Given the description of an element on the screen output the (x, y) to click on. 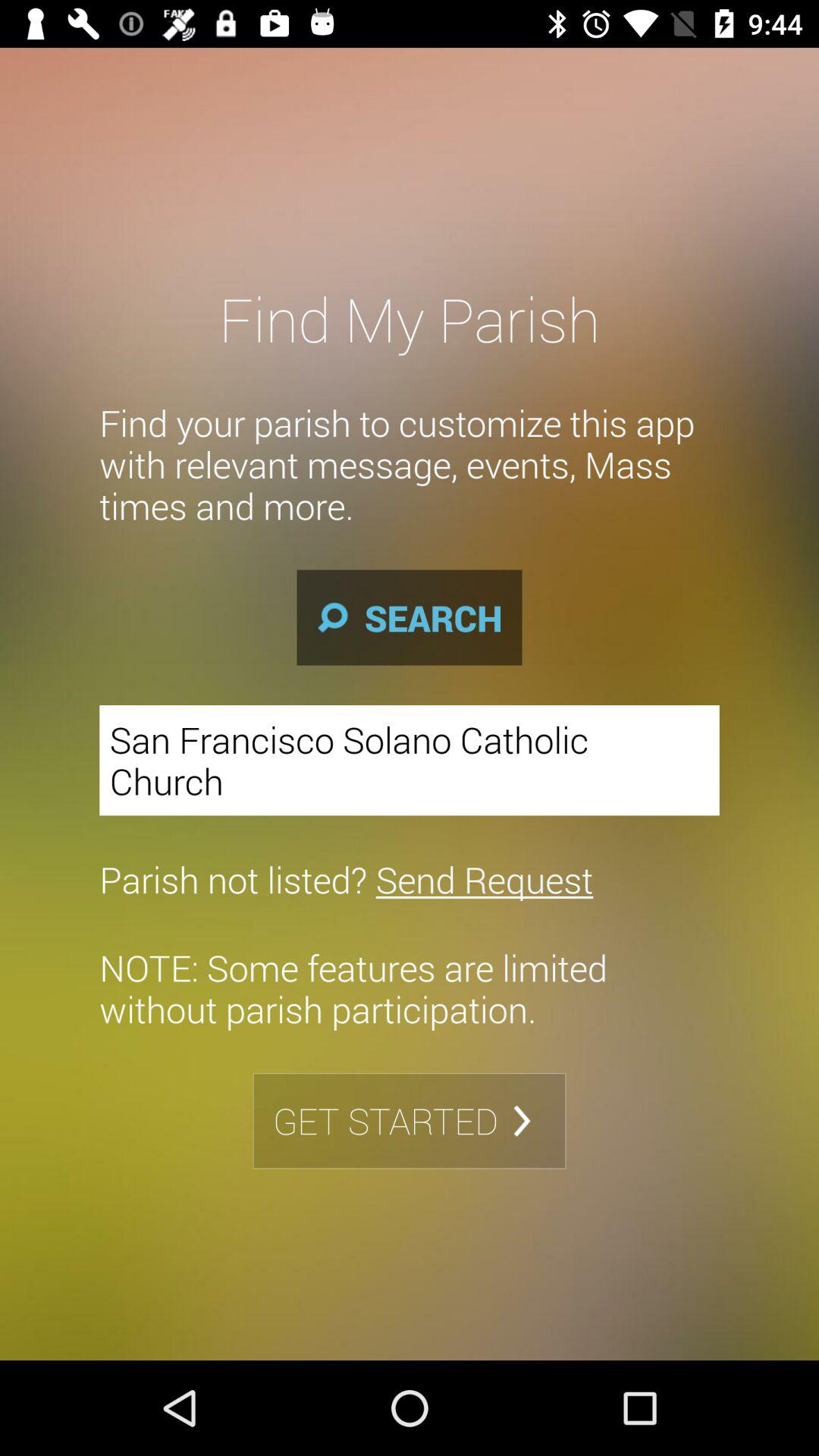
select item above note some features (346, 879)
